Given the description of an element on the screen output the (x, y) to click on. 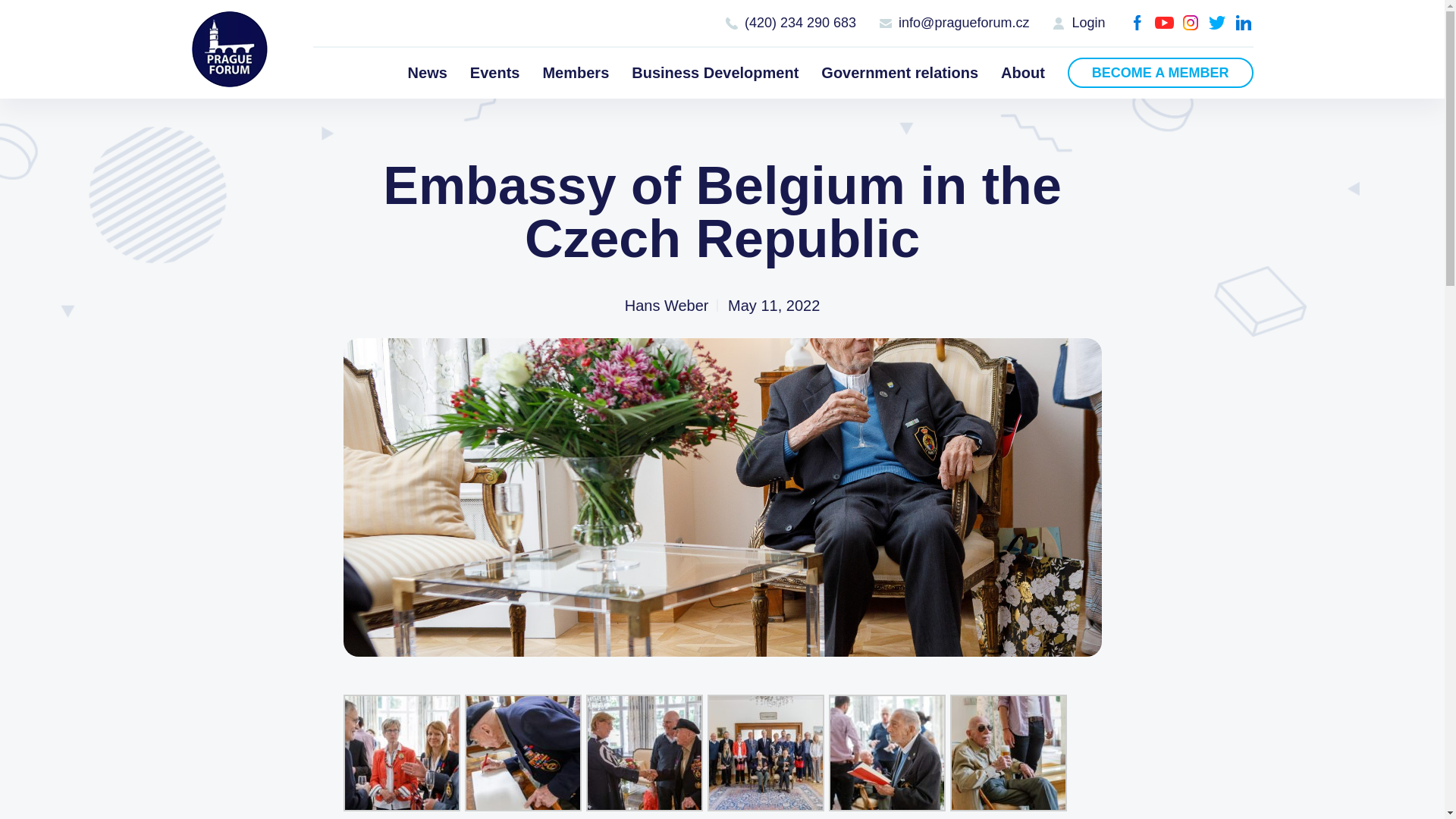
Youtube (1163, 22)
News (426, 72)
LinkedIn (1243, 22)
Business Development (714, 72)
Twitter (1216, 22)
Prague Forum (228, 48)
Members (574, 72)
BECOME A MEMBER (1160, 72)
Instagram (1189, 22)
Login (1078, 22)
About (1023, 72)
Government relations (899, 72)
Events (494, 72)
Facebook (1137, 22)
